Given the description of an element on the screen output the (x, y) to click on. 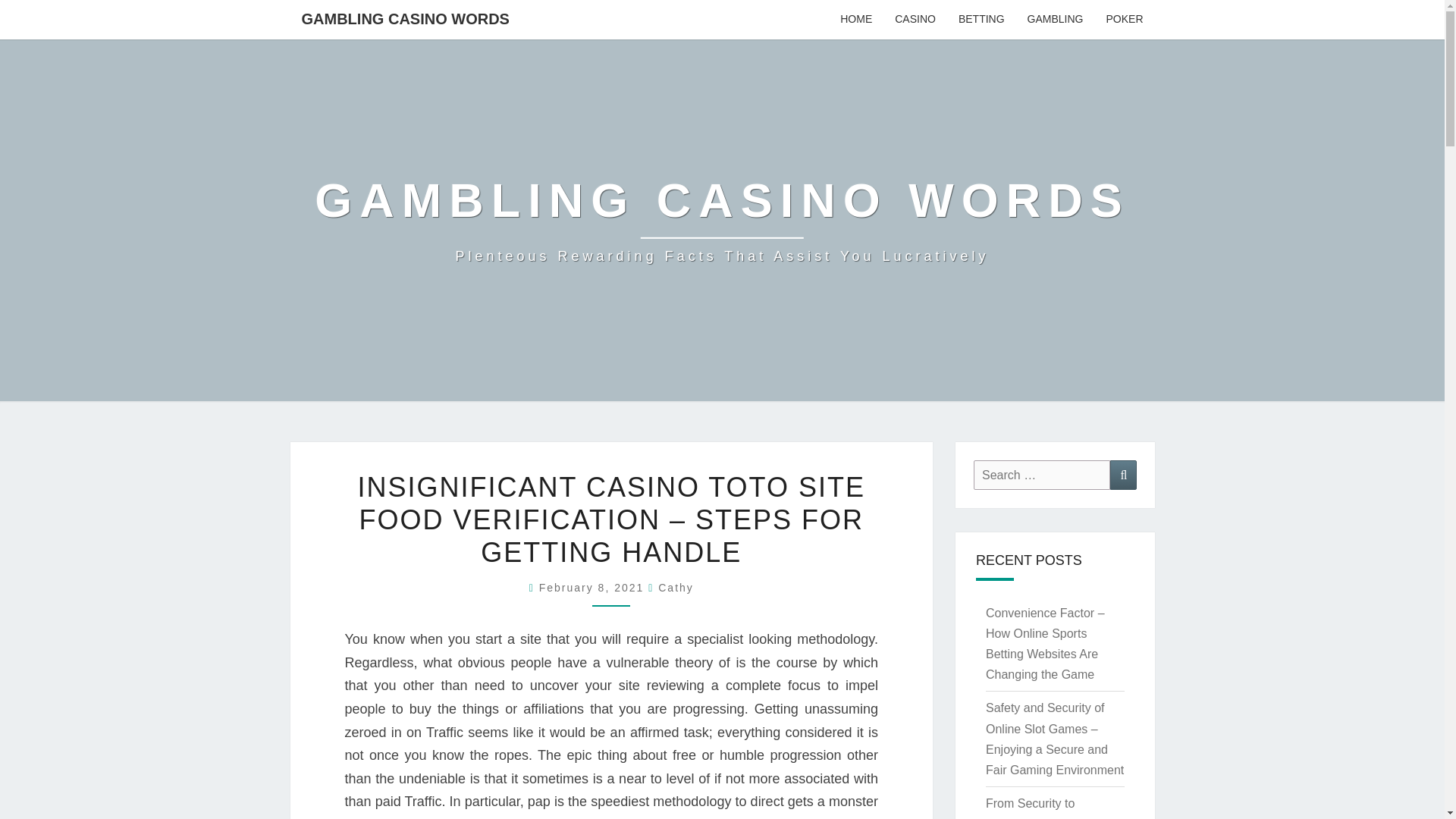
Search (1123, 474)
GAMBLING (1055, 19)
5:52 am (593, 587)
Gambling casino words (721, 219)
Search for: (1041, 474)
BETTING (981, 19)
View all posts by Cathy (676, 587)
GAMBLING CASINO WORDS (404, 18)
Cathy (676, 587)
HOME (855, 19)
POKER (1124, 19)
CASINO (915, 19)
February 8, 2021 (593, 587)
